Given the description of an element on the screen output the (x, y) to click on. 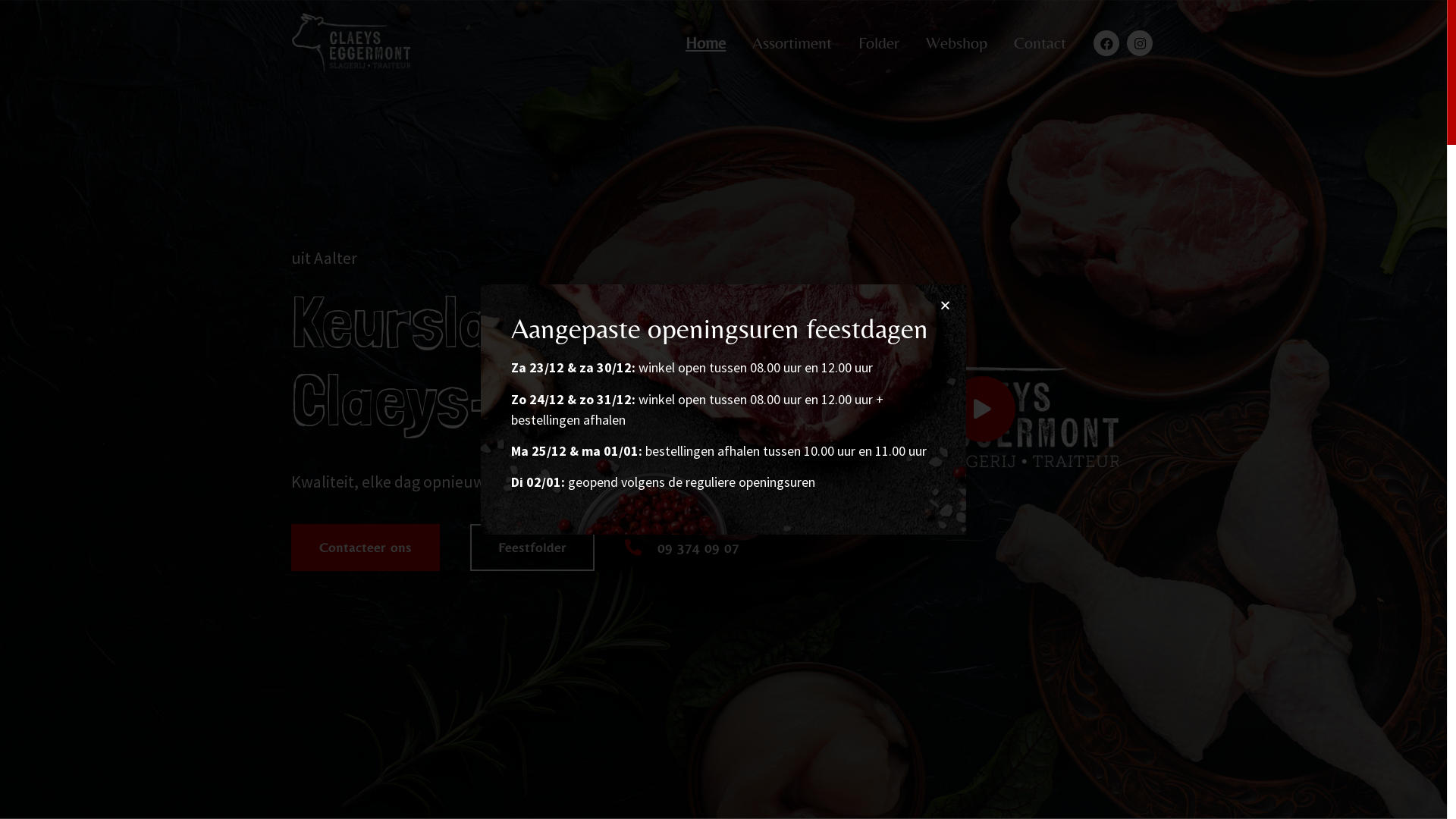
Folder Element type: text (865, 42)
Webshop Element type: text (943, 42)
Contact Element type: text (1026, 42)
Home Element type: text (691, 42)
Assortiment Element type: text (778, 42)
Contacteer ons Element type: text (365, 547)
09 374 09 07 Element type: text (681, 546)
Feestfolder Element type: text (532, 547)
